Given the description of an element on the screen output the (x, y) to click on. 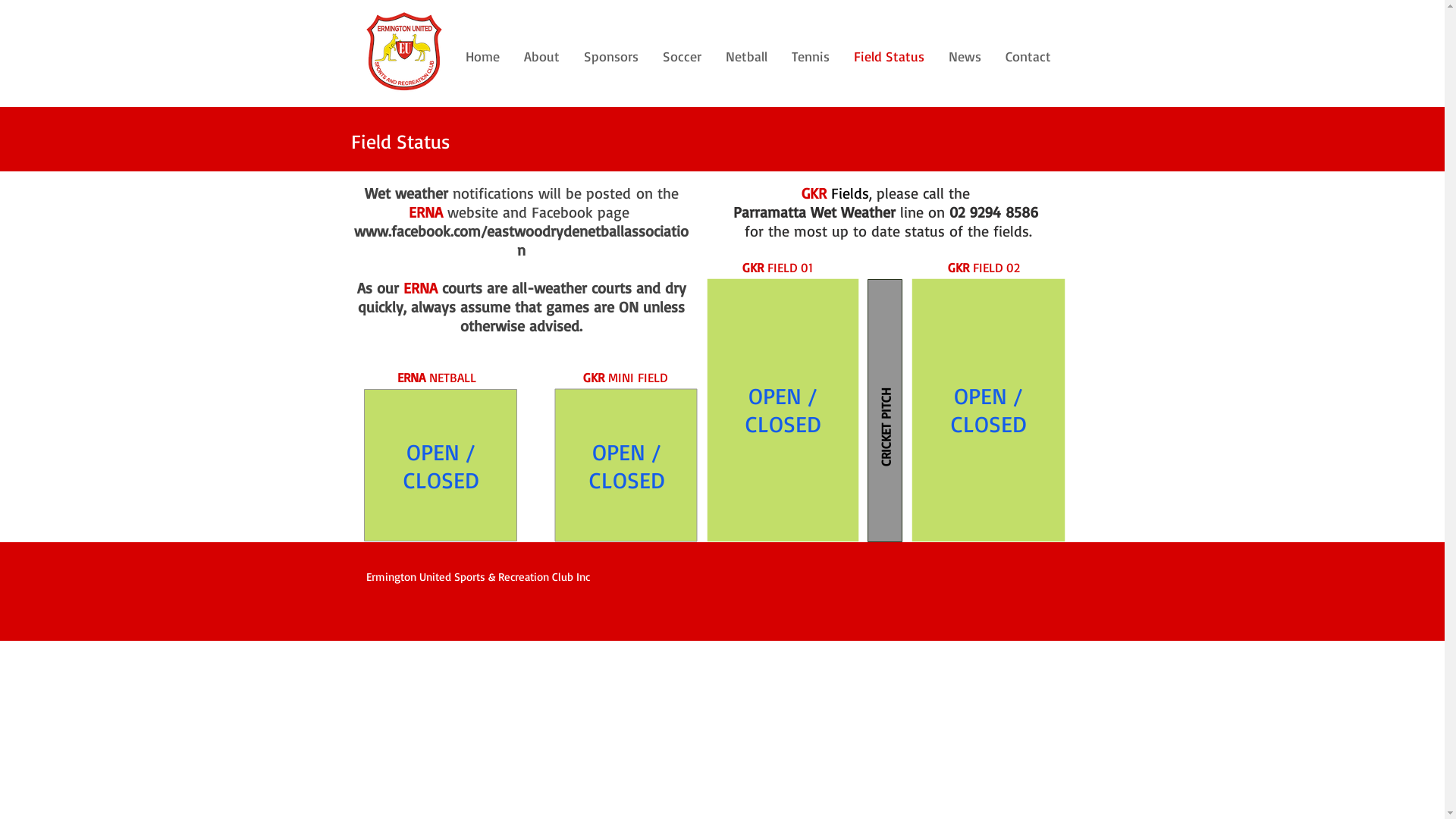
Sponsors Element type: text (610, 56)
Tennis Element type: text (810, 56)
News Element type: text (965, 56)
Netball Element type: text (747, 56)
www.facebook.com/eastwoodrydenetballassociation Element type: text (521, 240)
Home Element type: text (482, 56)
Field Status Element type: text (888, 56)
Contact Element type: text (1028, 56)
Soccer Element type: text (681, 56)
About Element type: text (542, 56)
